Given the description of an element on the screen output the (x, y) to click on. 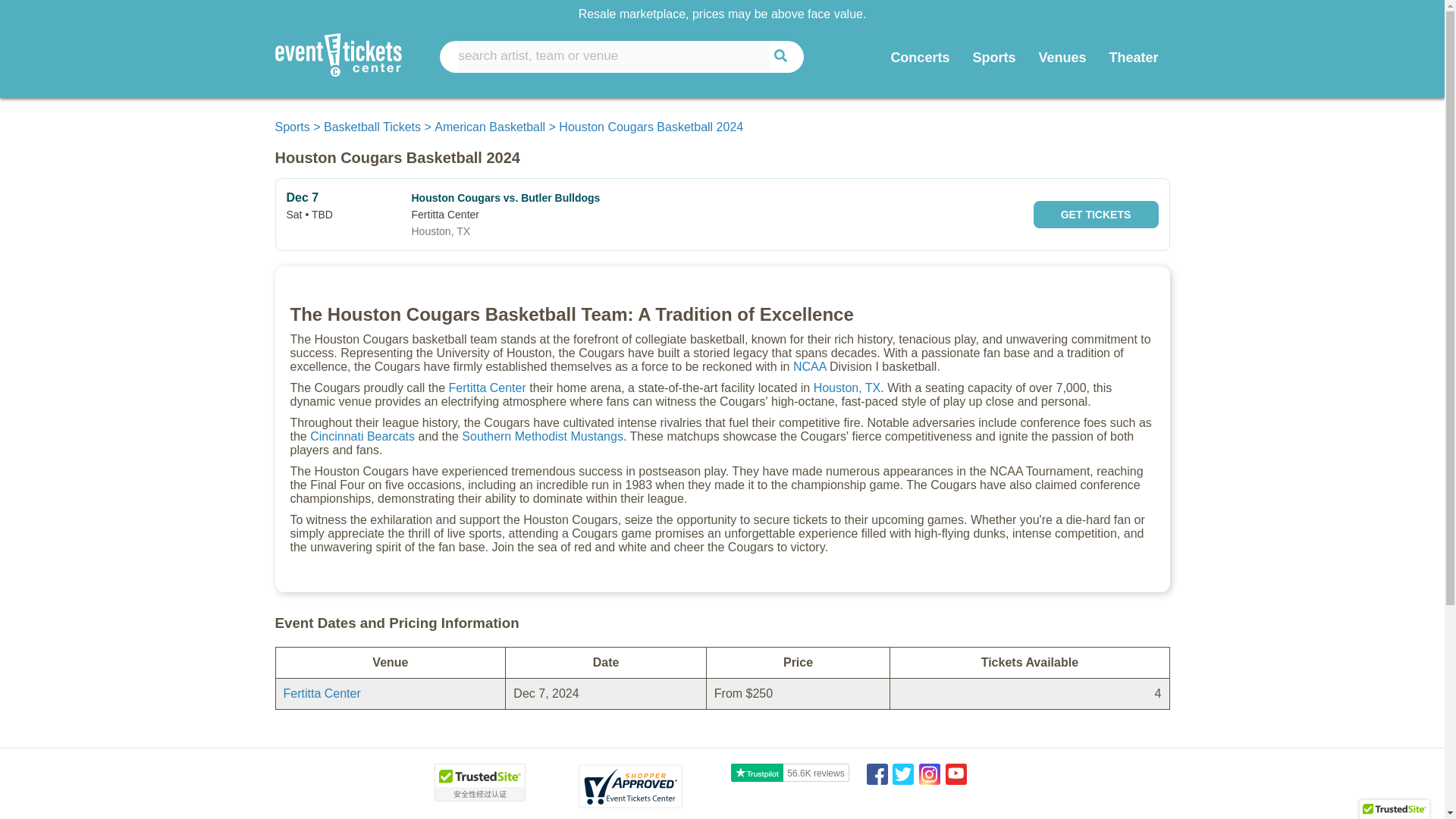
Customer reviews powered by Trustpilot (790, 772)
TrustedSite Certified (1394, 809)
TrustedSite Certified (478, 782)
Concerts (919, 57)
